Given the description of an element on the screen output the (x, y) to click on. 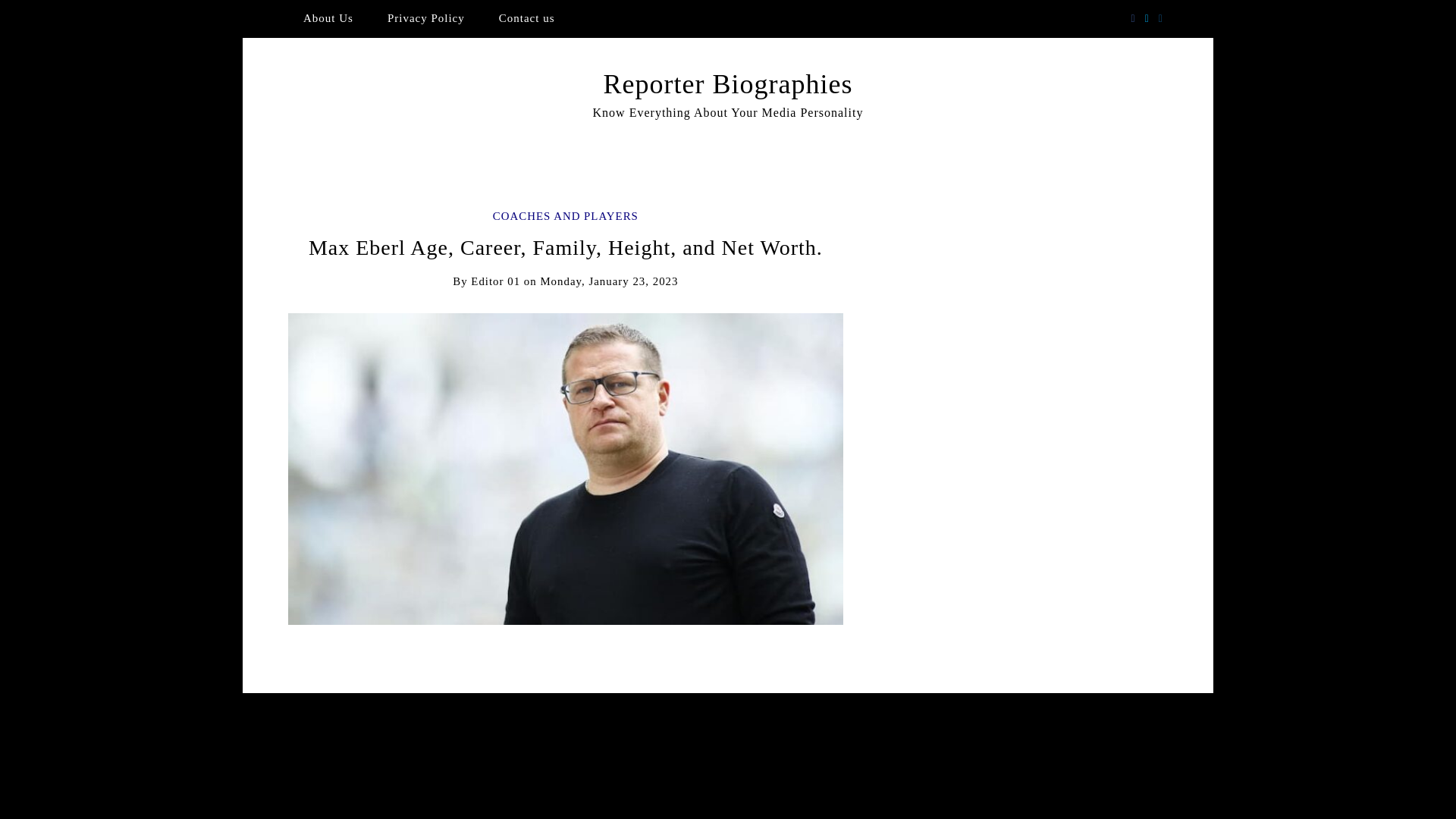
About Us (328, 18)
Monday, January 23, 2023 (609, 281)
Reporter Biographies (728, 83)
COACHES AND PLAYERS (566, 215)
Contact us (526, 18)
Privacy Policy (426, 18)
Editor 01 (494, 281)
Posts by Editor 01 (494, 281)
